Given the description of an element on the screen output the (x, y) to click on. 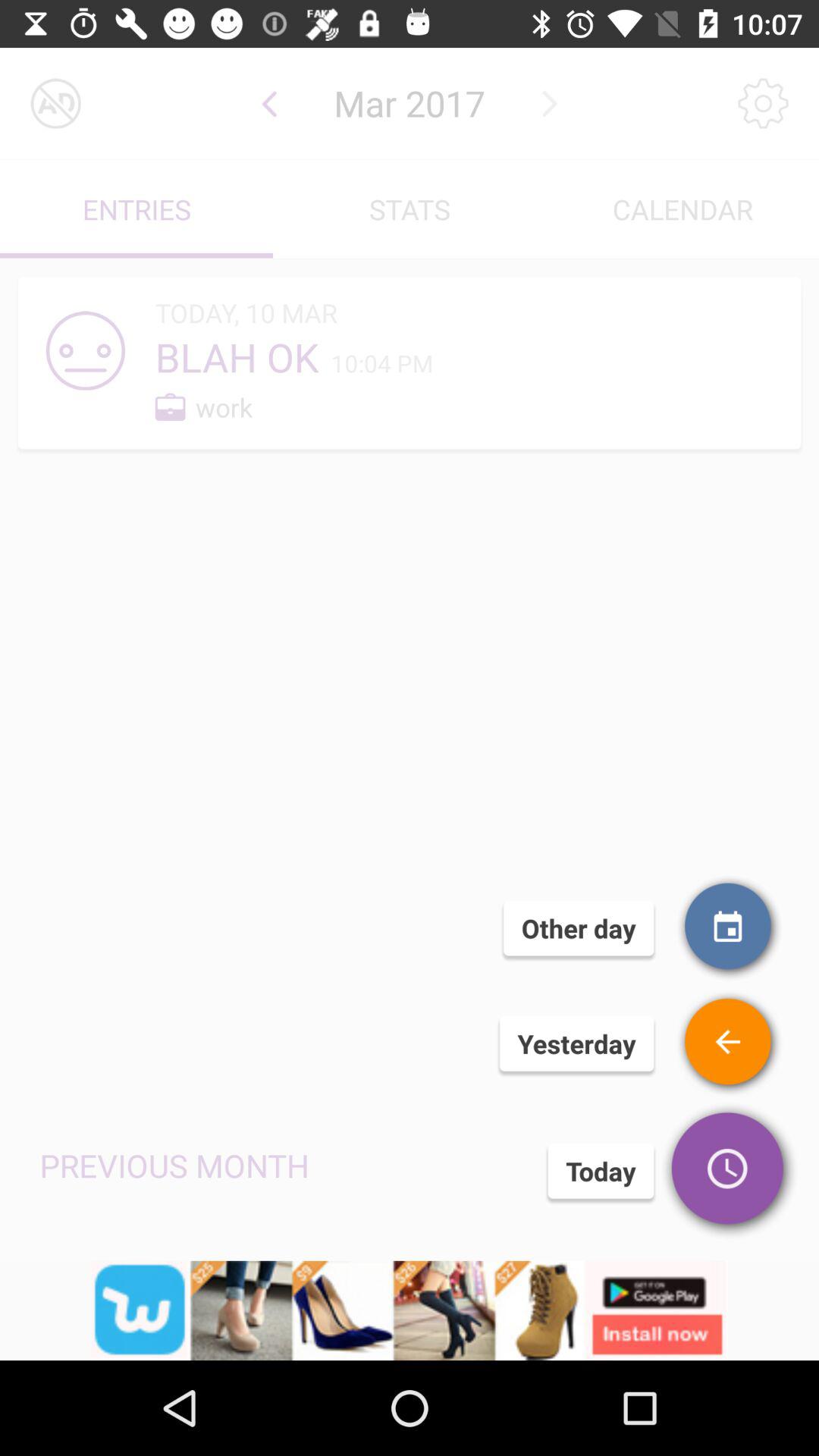
settings (763, 103)
